Given the description of an element on the screen output the (x, y) to click on. 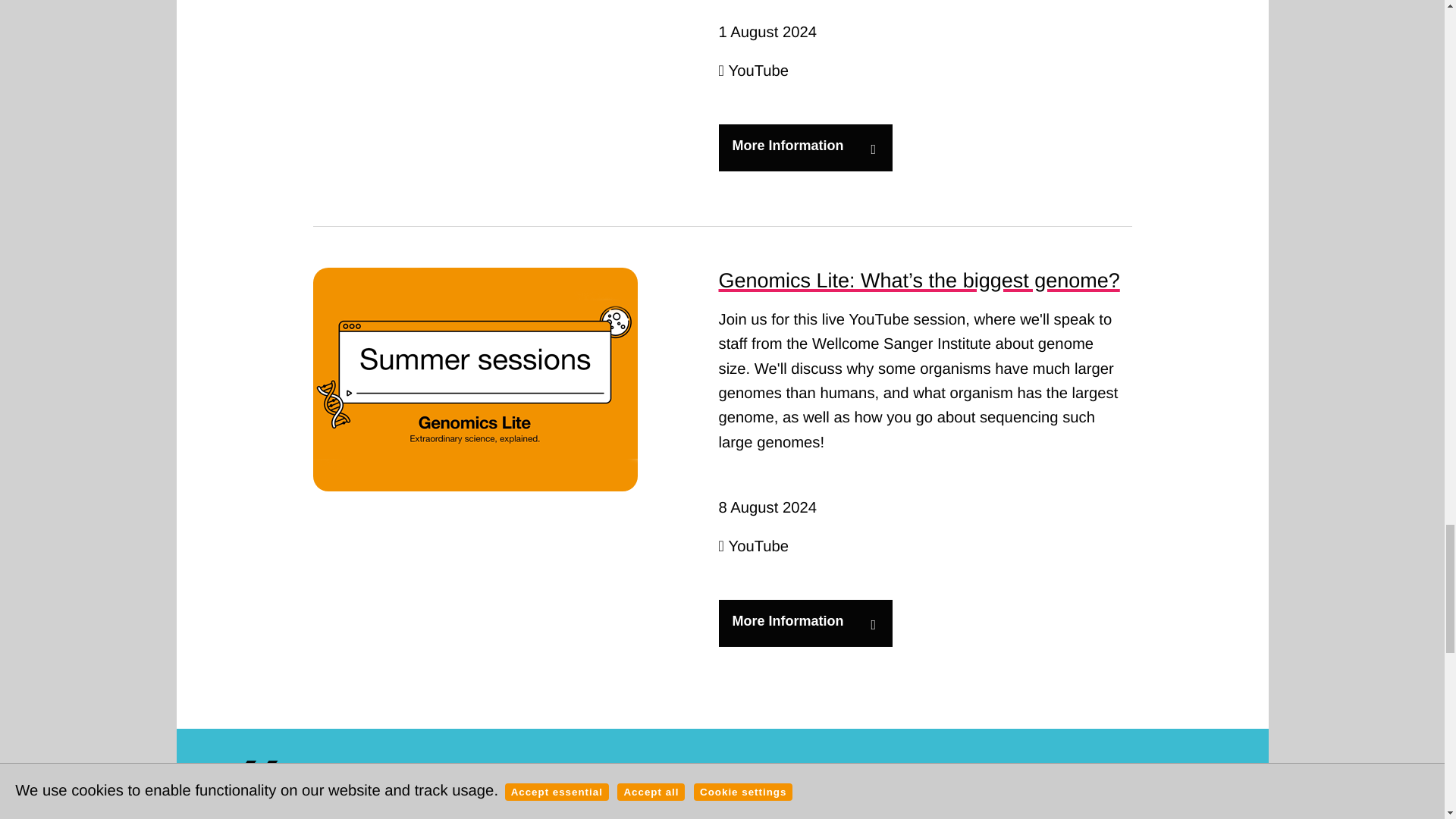
Genomics Lite, summer sessions. (475, 379)
